Given the description of an element on the screen output the (x, y) to click on. 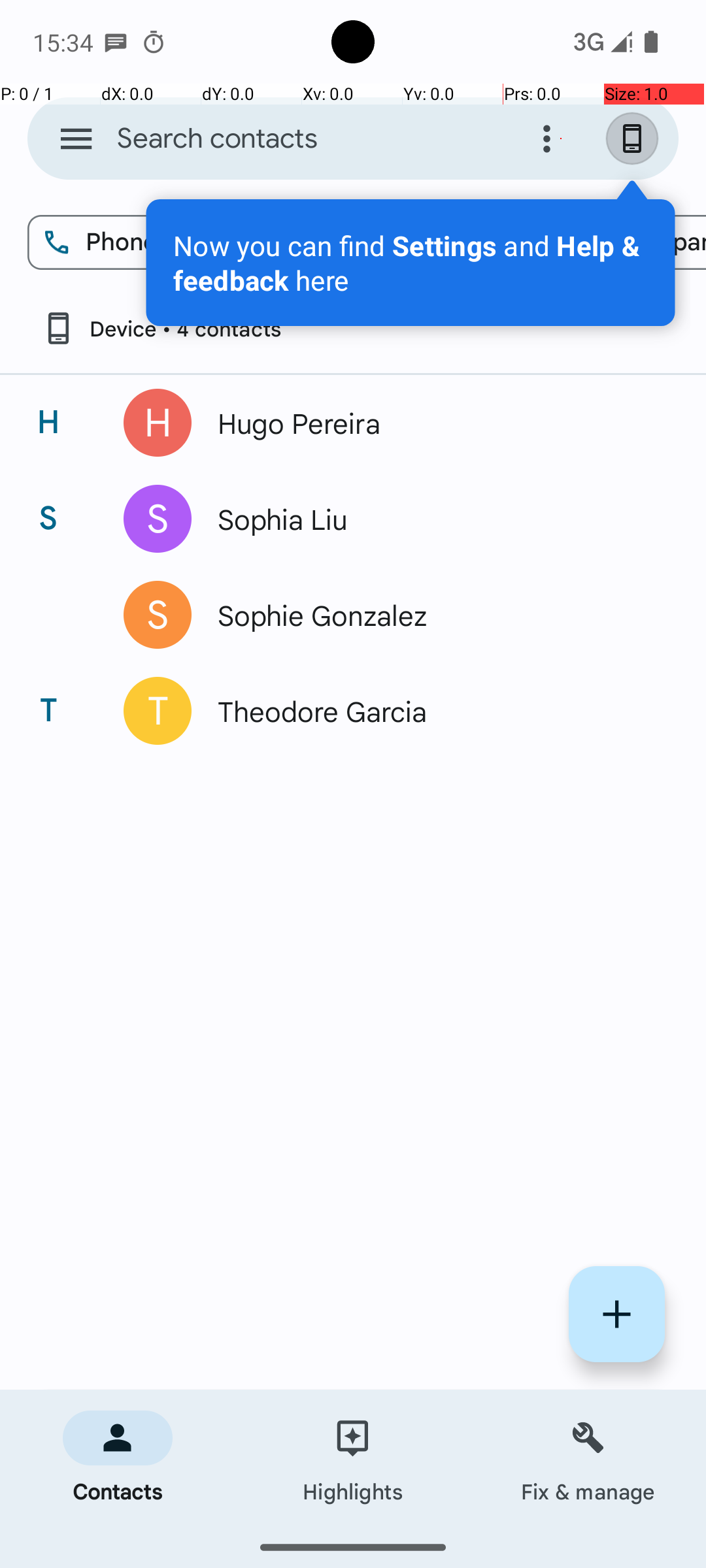
Device • 4 contacts Element type: android.widget.TextView (161, 328)
Hugo Pereira Element type: android.widget.TextView (434, 422)
Sophia Liu Element type: android.widget.TextView (434, 518)
Sophie Gonzalez Element type: android.widget.TextView (434, 614)
Theodore Garcia Element type: android.widget.TextView (434, 710)
SMS Messenger notification: Sophie Gonzalez Element type: android.widget.ImageView (115, 41)
